Given the description of an element on the screen output the (x, y) to click on. 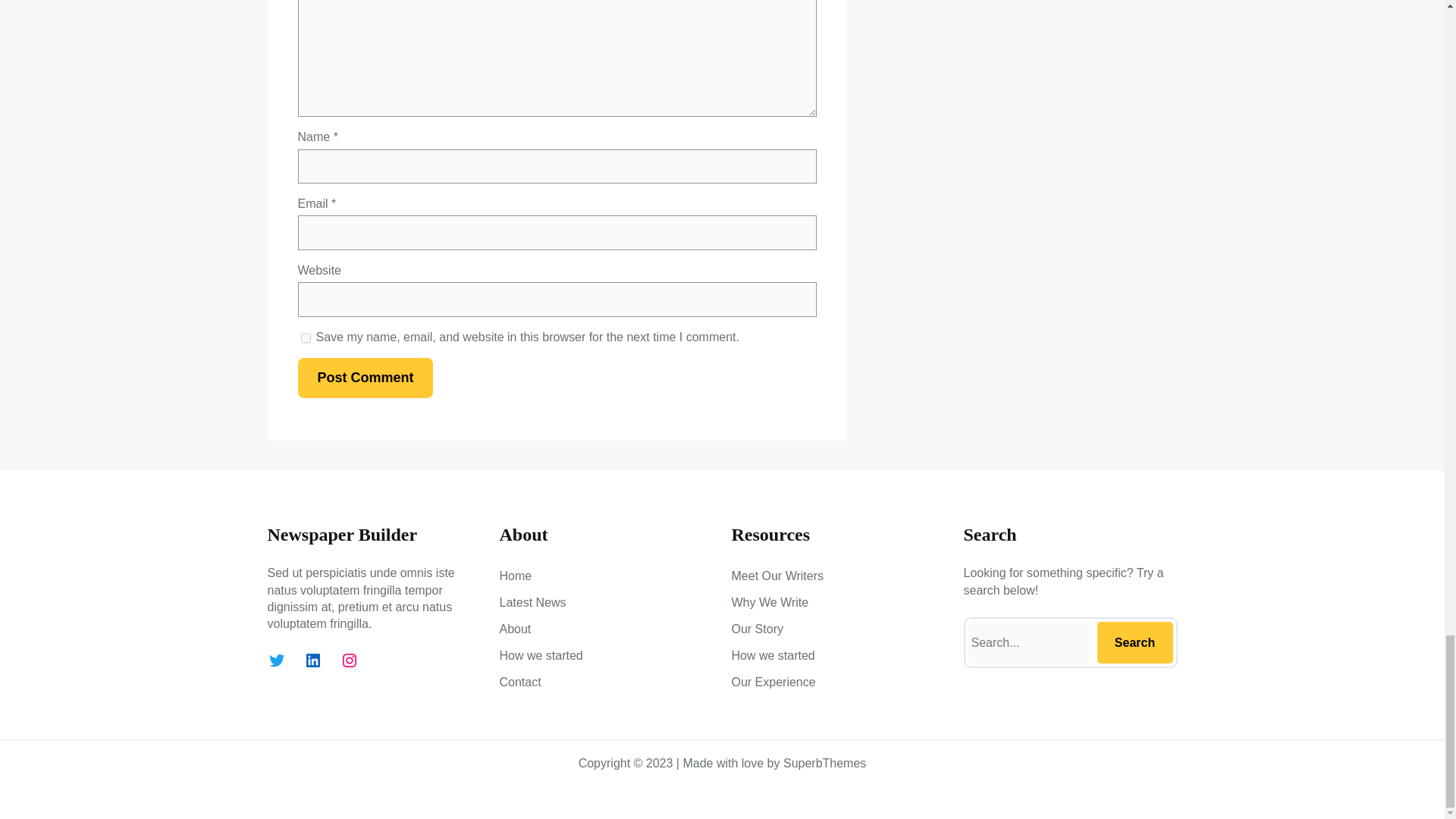
Post Comment (364, 377)
yes (304, 337)
Instagram (348, 660)
Twitter (275, 660)
Post Comment (364, 377)
LinkedIn (311, 660)
